Given the description of an element on the screen output the (x, y) to click on. 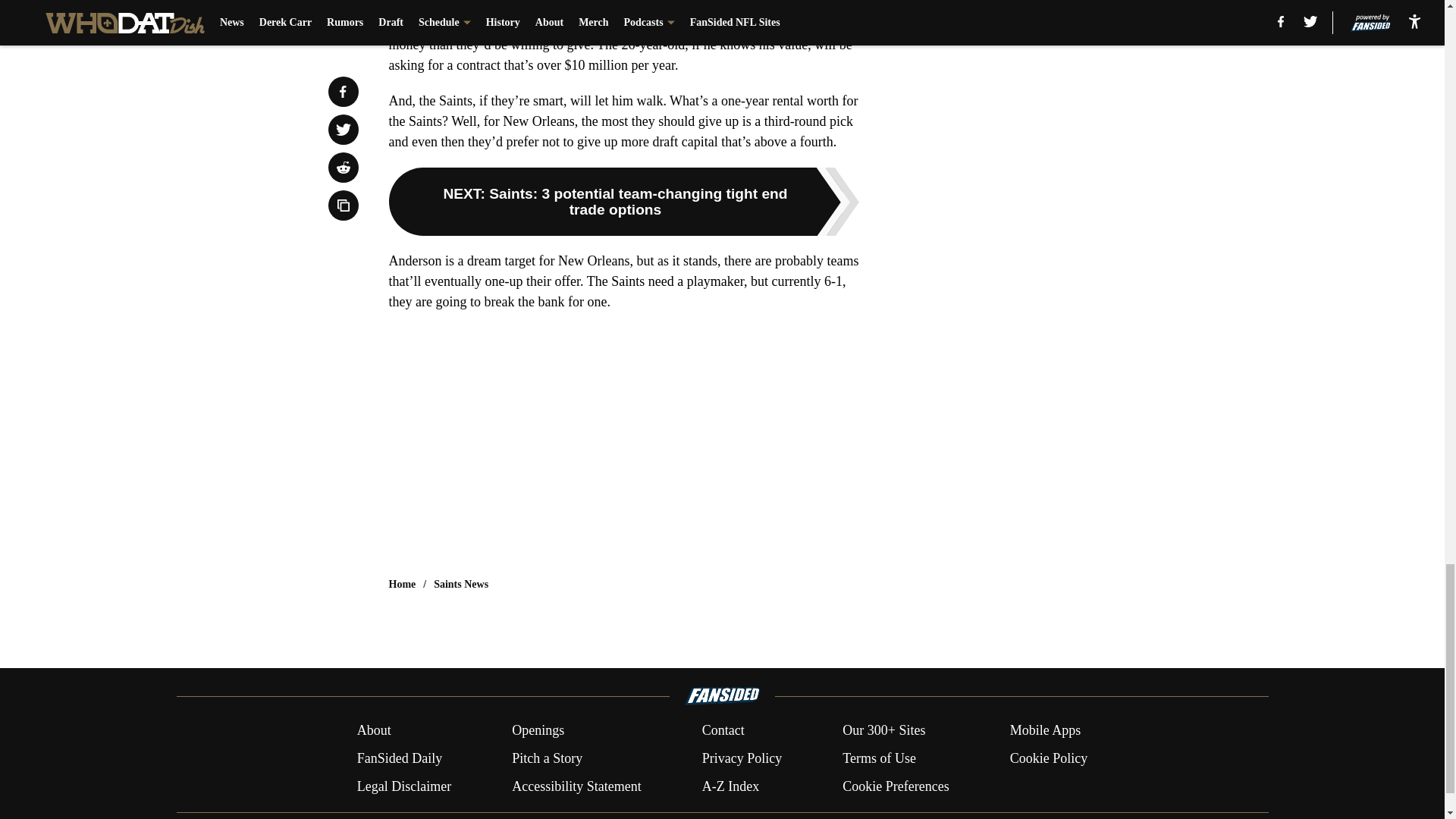
Openings (538, 730)
Contact (722, 730)
Home (401, 584)
Terms of Use (879, 758)
Saints News (460, 584)
Mobile Apps (1045, 730)
Privacy Policy (742, 758)
About (373, 730)
FanSided Daily (399, 758)
Pitch a Story (547, 758)
